Given the description of an element on the screen output the (x, y) to click on. 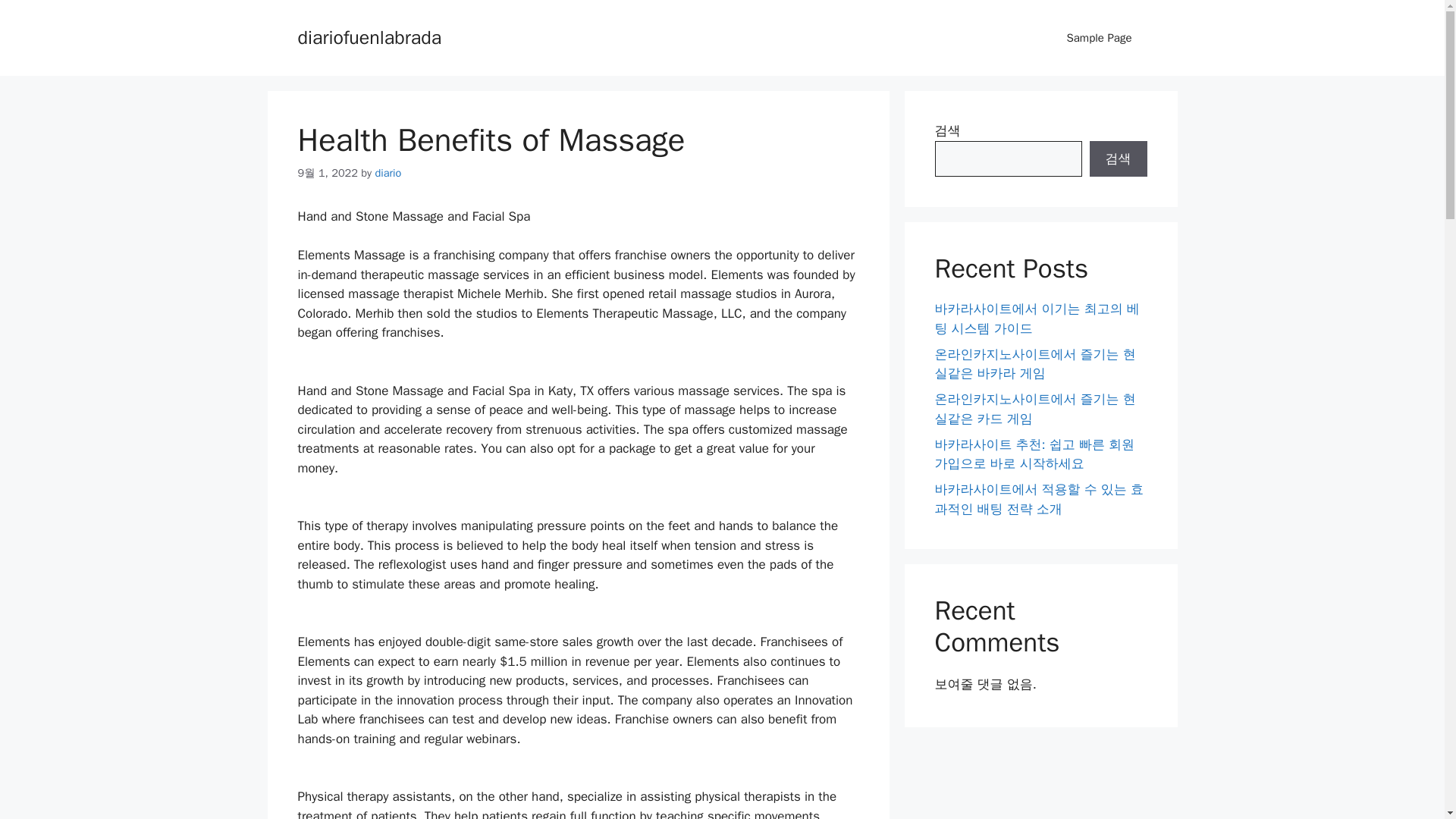
Sample Page (1099, 37)
diariofuenlabrada (369, 37)
diario (387, 172)
View all posts by diario (387, 172)
